Given the description of an element on the screen output the (x, y) to click on. 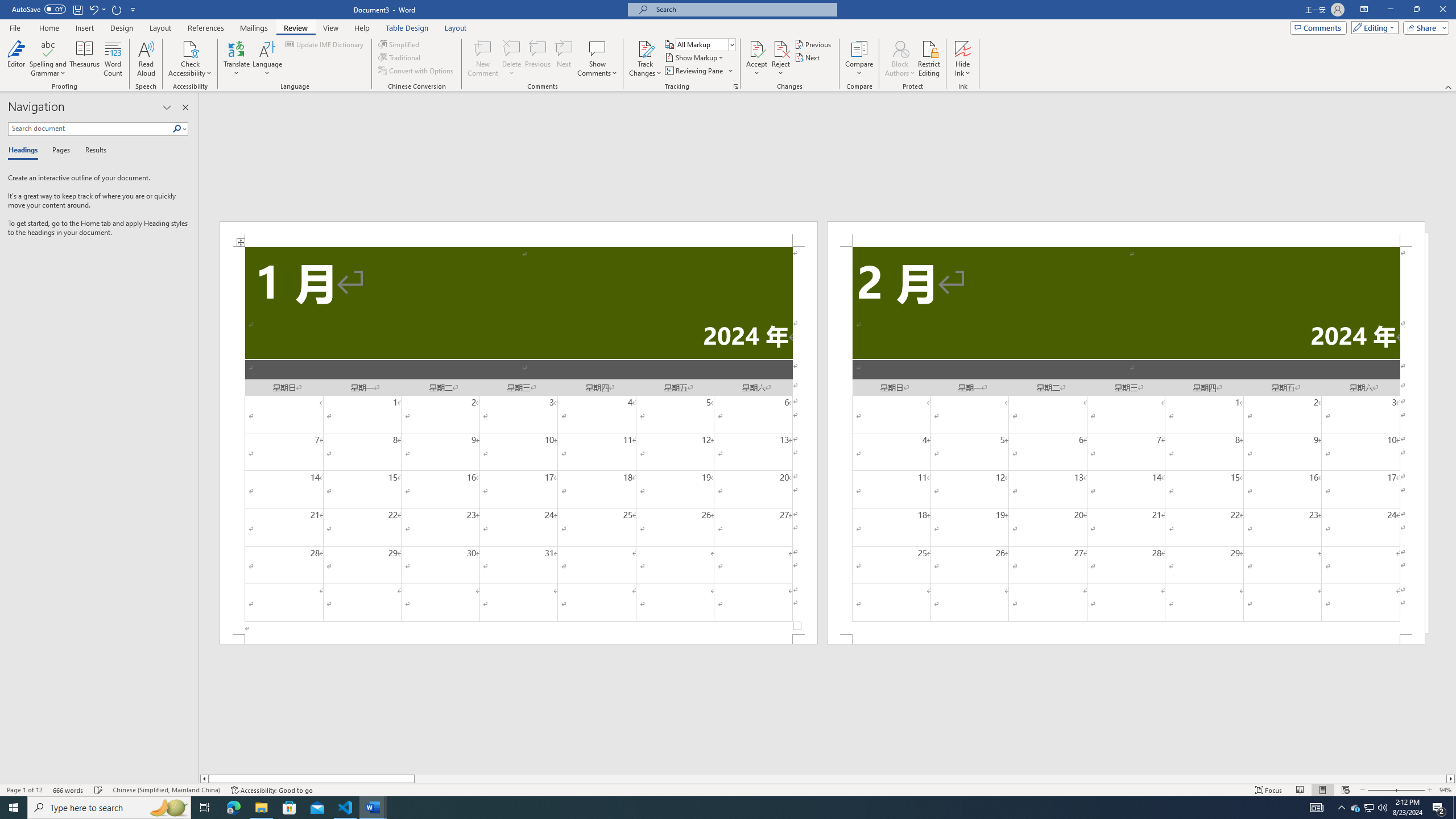
Block Authors (900, 58)
Display for Review (705, 44)
Check Accessibility (189, 58)
Track Changes (644, 58)
Column right (1450, 778)
Accept (756, 58)
Spelling and Grammar (48, 48)
Traditional (400, 56)
New Comment (482, 58)
Reviewing Pane (698, 69)
